Given the description of an element on the screen output the (x, y) to click on. 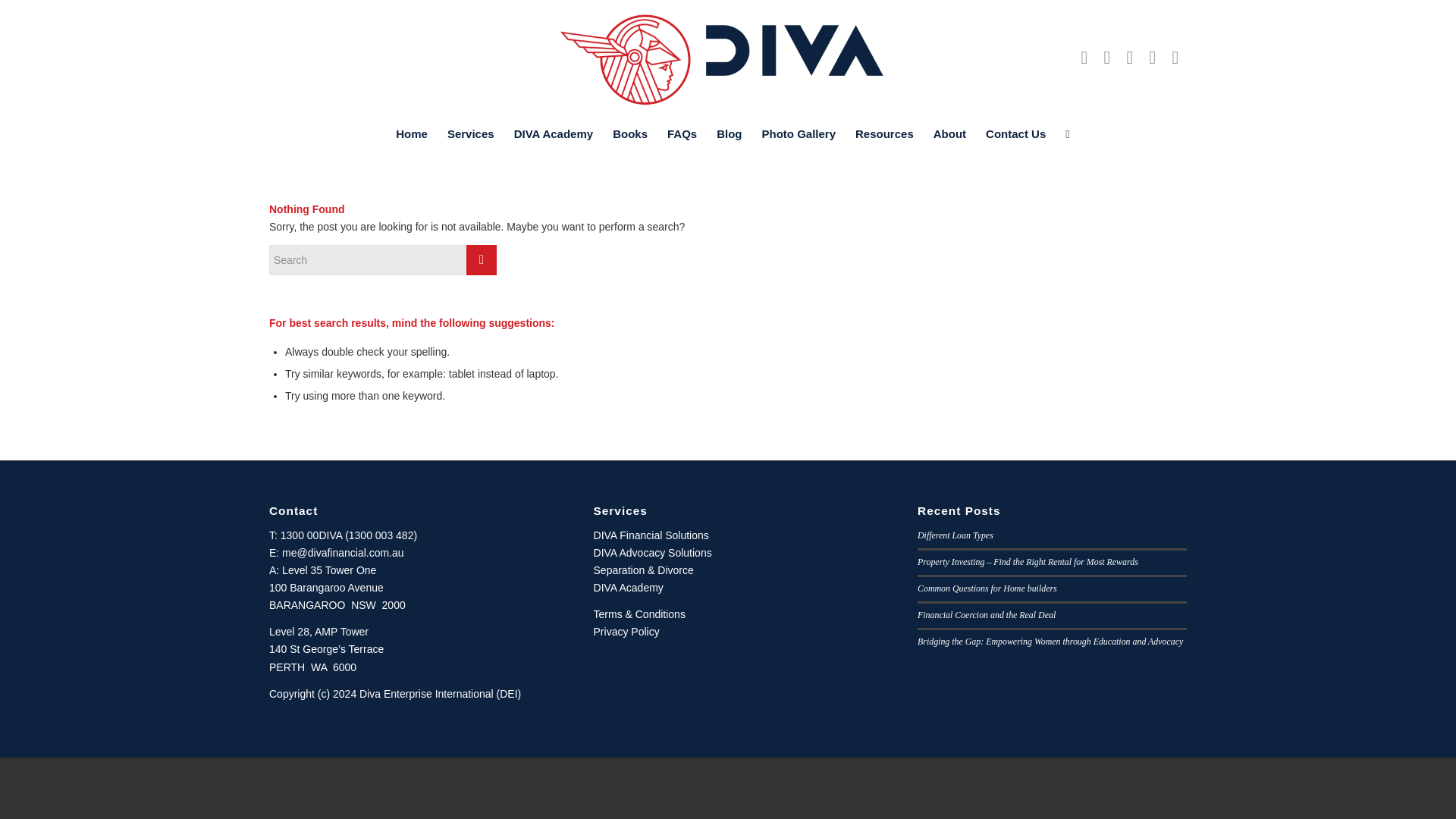
Resources (884, 134)
Separation and Divorce (644, 570)
Diva-Financial-Logo-Red (727, 57)
Privacy Policy (626, 631)
Facebook (1084, 56)
About (949, 134)
Instagram (1129, 56)
LinkedIn (1107, 56)
Photo Gallery (798, 134)
Books (630, 134)
